Given the description of an element on the screen output the (x, y) to click on. 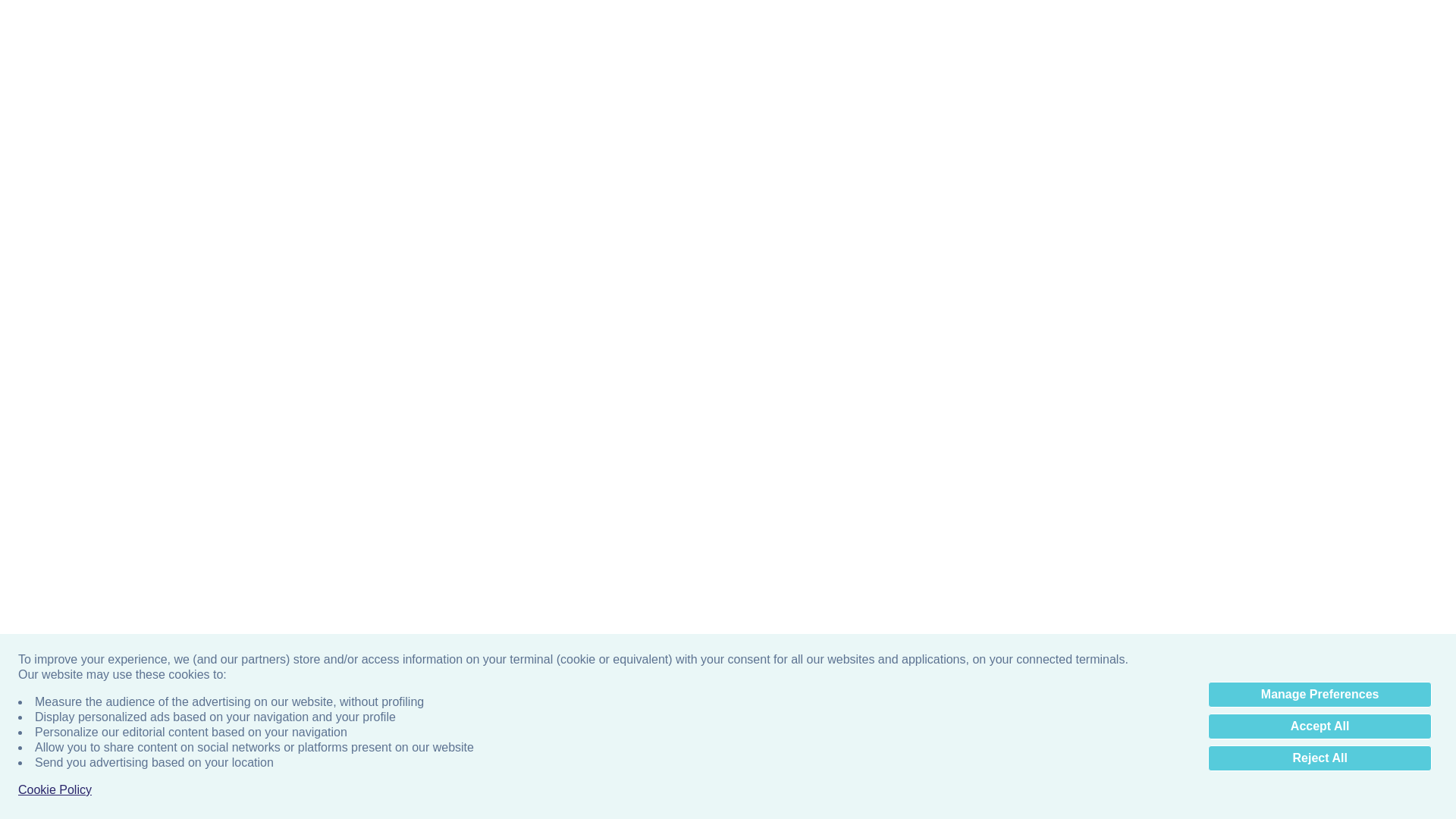
Cookie Policy (54, 789)
Manage Preferences (1319, 694)
Accept All (1319, 726)
Reject All (1319, 758)
